Given the description of an element on the screen output the (x, y) to click on. 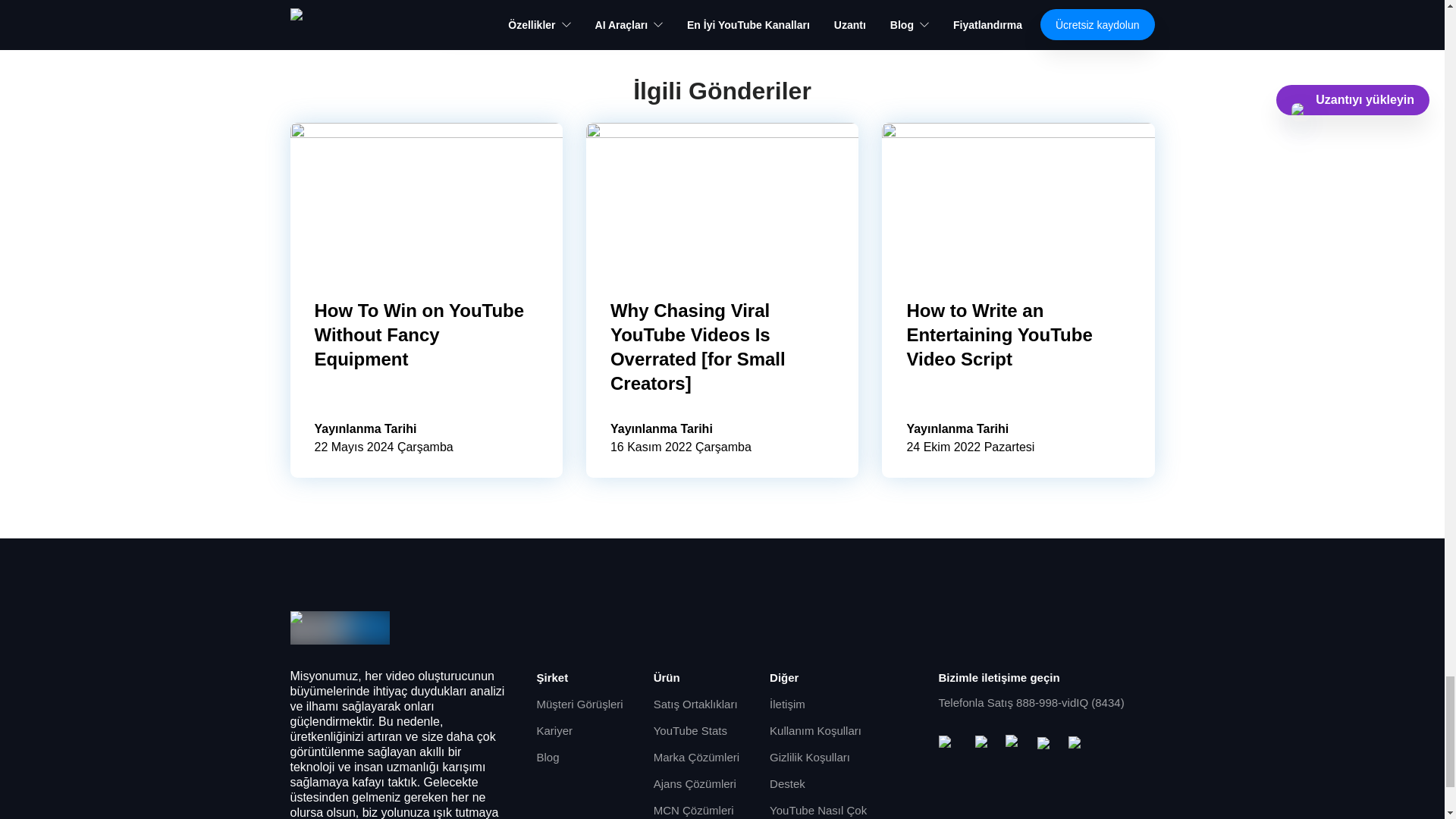
Instagram (1015, 744)
YouTube (950, 744)
Twitter (1046, 744)
Facebook (983, 744)
LinkedIn (1076, 744)
